Given the description of an element on the screen output the (x, y) to click on. 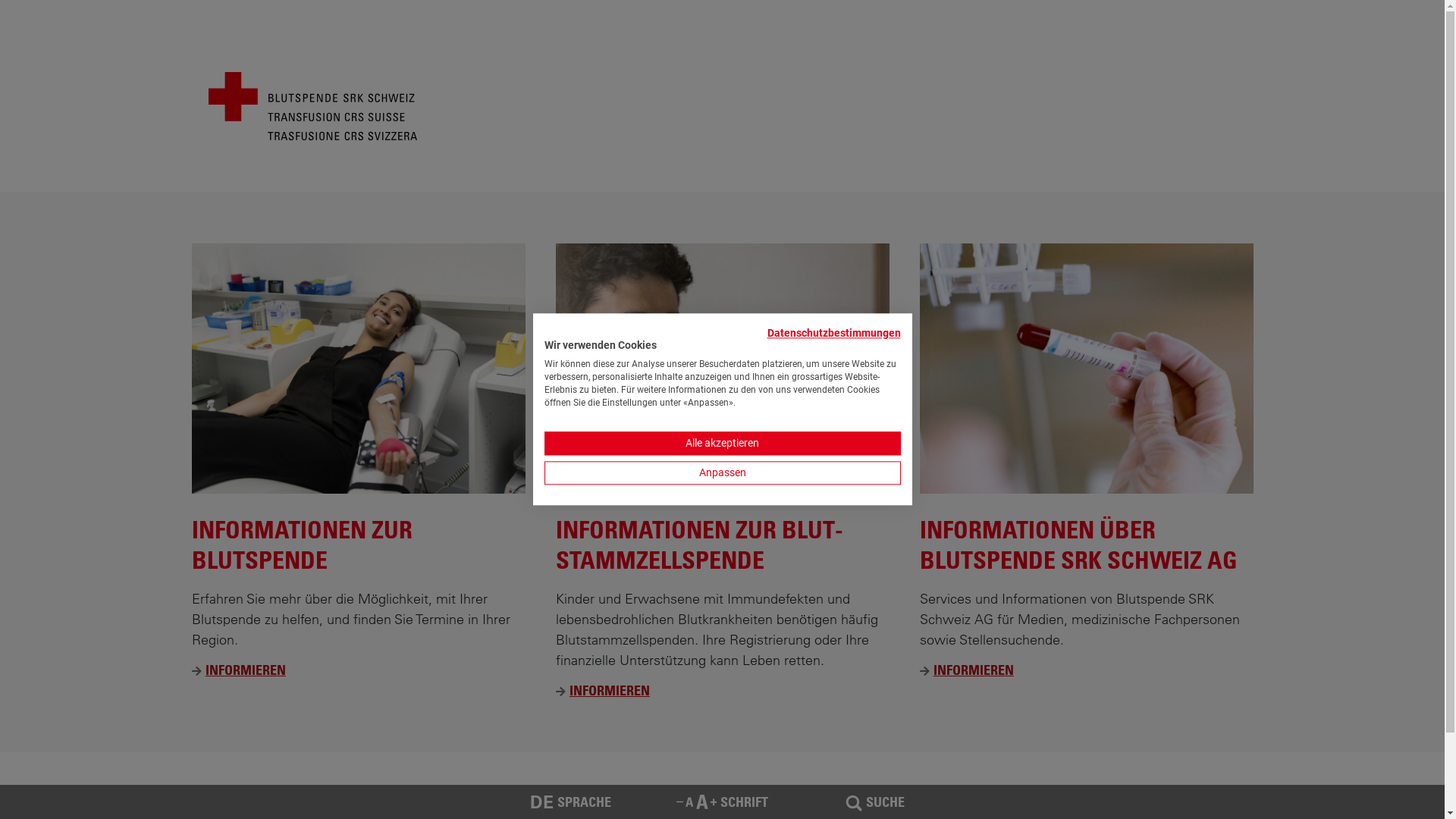
Direkt zum Inhalt Element type: text (0, 0)
Anpassen Element type: text (722, 473)
Datenschutzbestimmungen Element type: text (831, 332)
Alle akzeptieren Element type: text (722, 443)
